Given the description of an element on the screen output the (x, y) to click on. 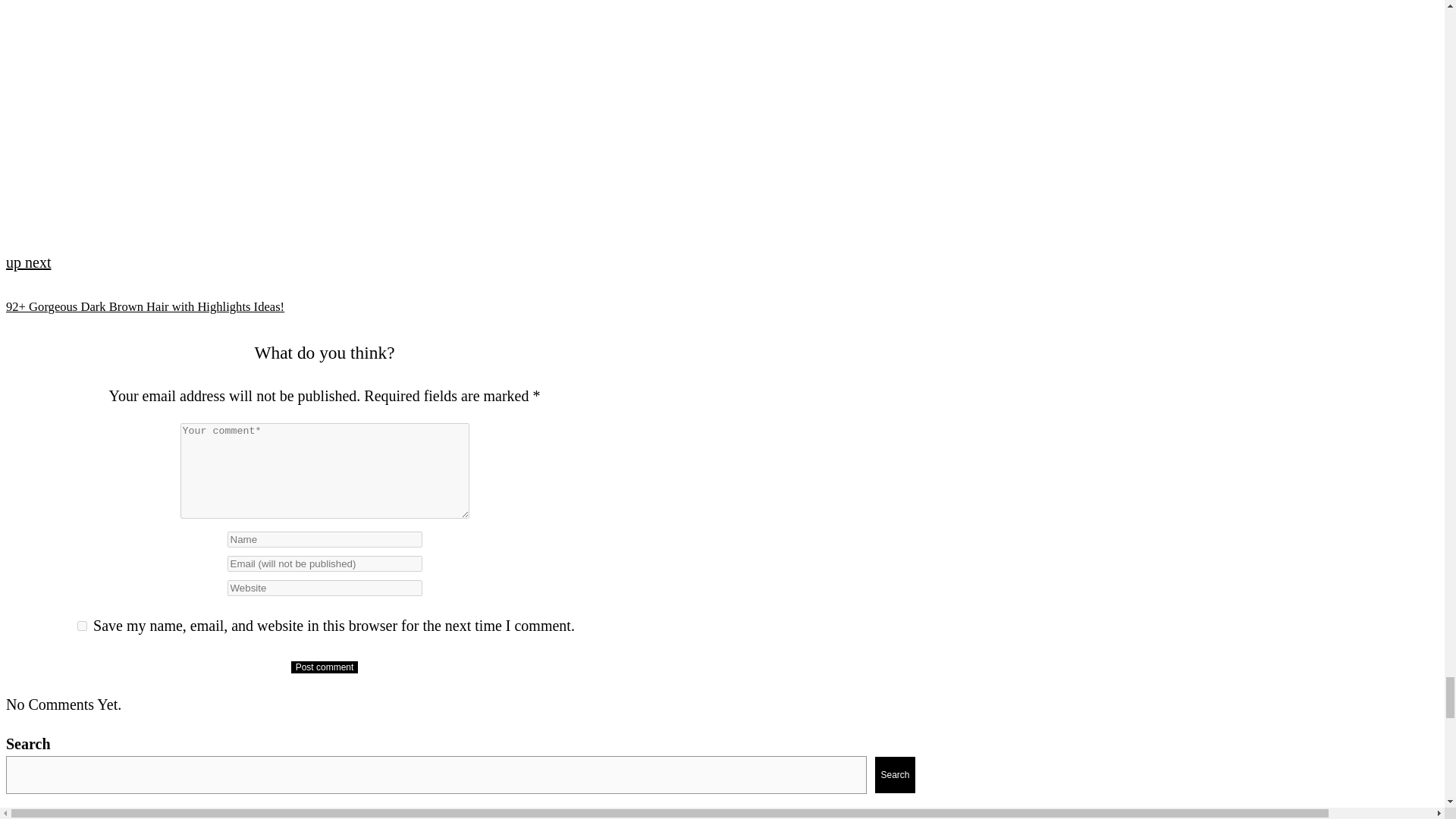
Post comment (324, 667)
yes (82, 625)
